Given the description of an element on the screen output the (x, y) to click on. 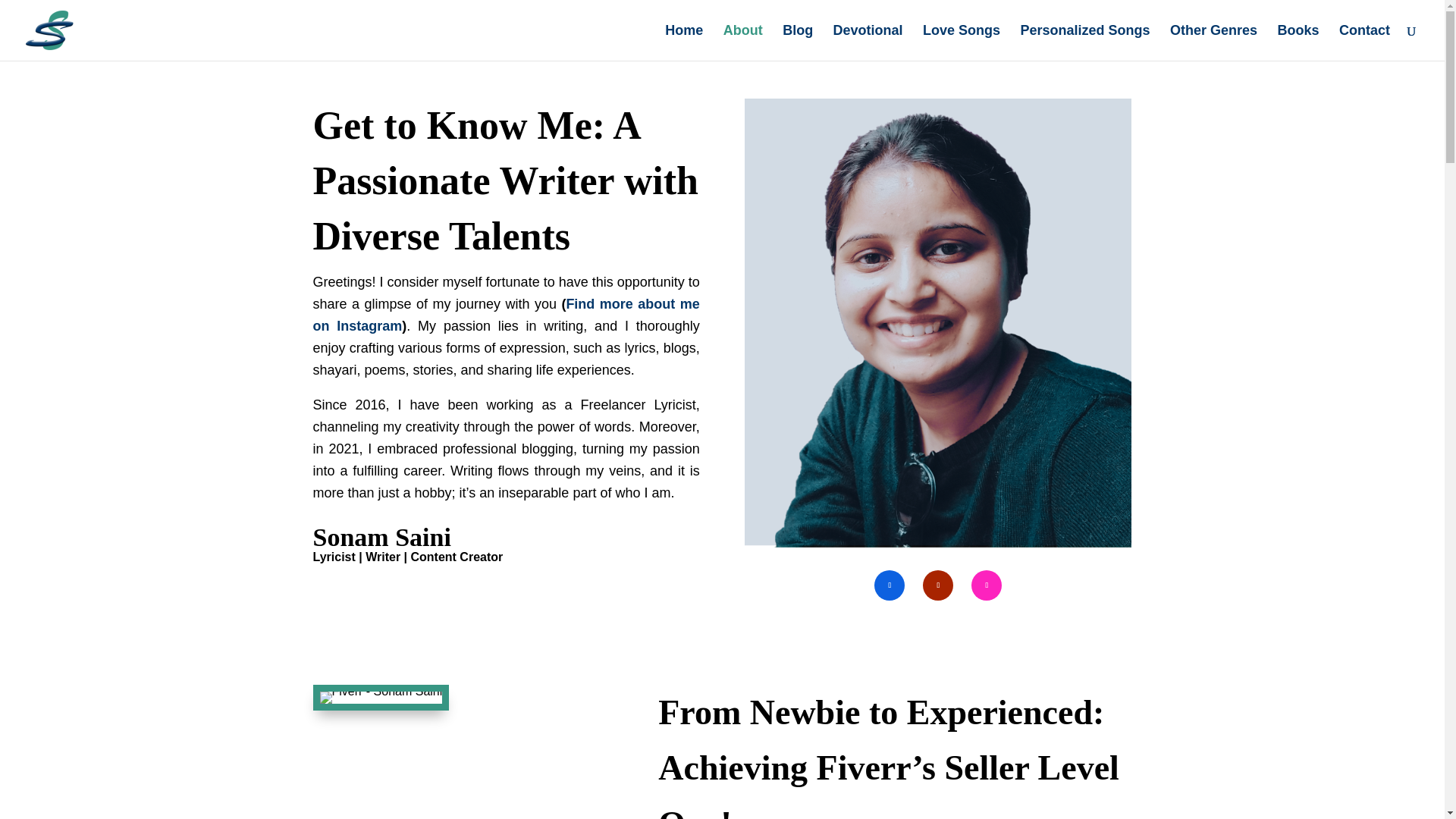
Home (684, 42)
Follow on Facebook (889, 585)
Find more about me on Instagram (505, 314)
Devotional (867, 42)
Other Genres (1213, 42)
Books (1298, 42)
About (742, 42)
Personalized Songs (1085, 42)
Contact (1364, 42)
